Given the description of an element on the screen output the (x, y) to click on. 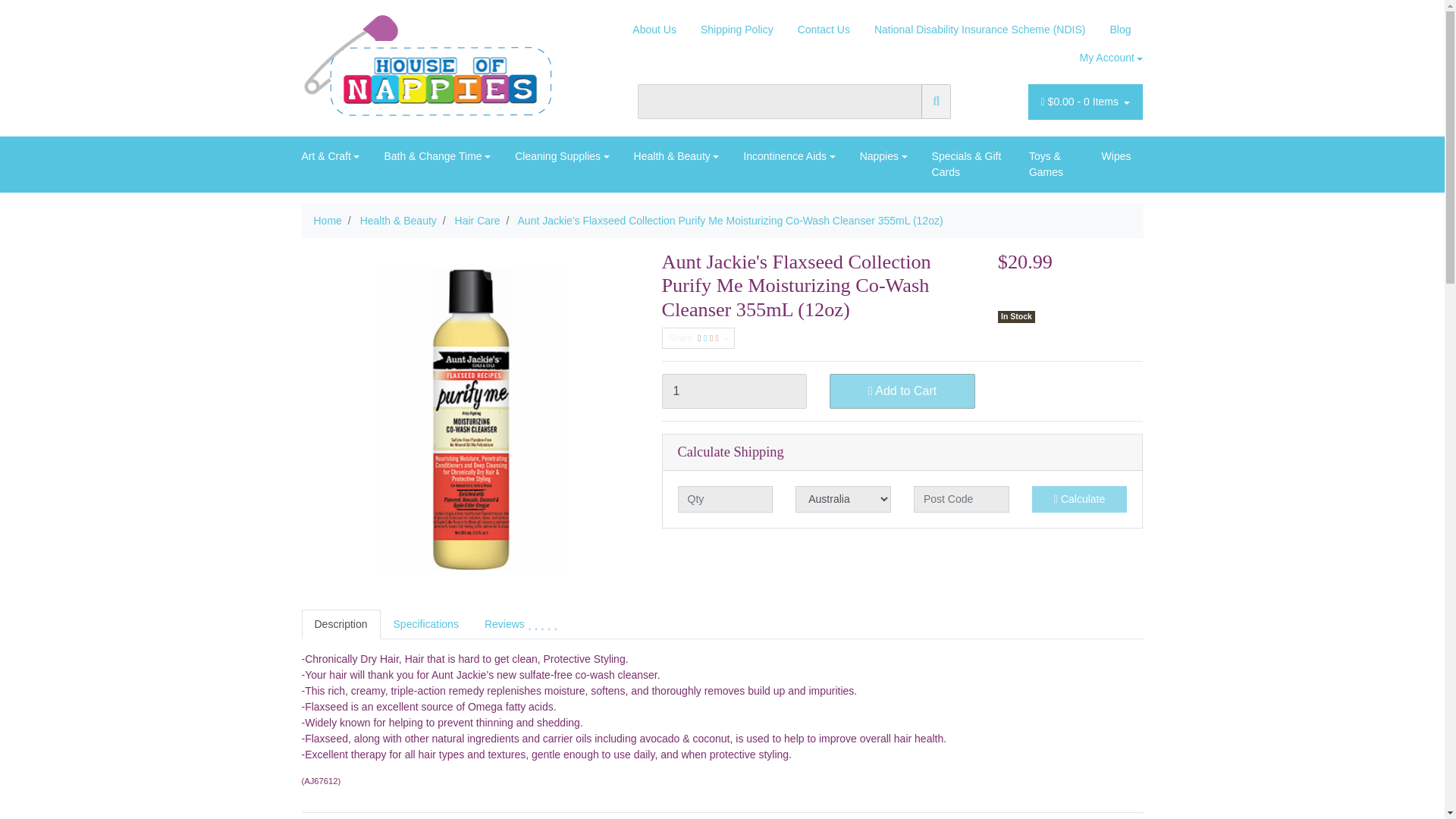
Cleaning Supplies (561, 156)
About Us (654, 29)
Blog (1119, 29)
Contact Us (823, 29)
1 (733, 390)
My Account (1104, 58)
Shipping Policy (737, 29)
House of Nappies (434, 67)
Calculate (1079, 499)
